Given the description of an element on the screen output the (x, y) to click on. 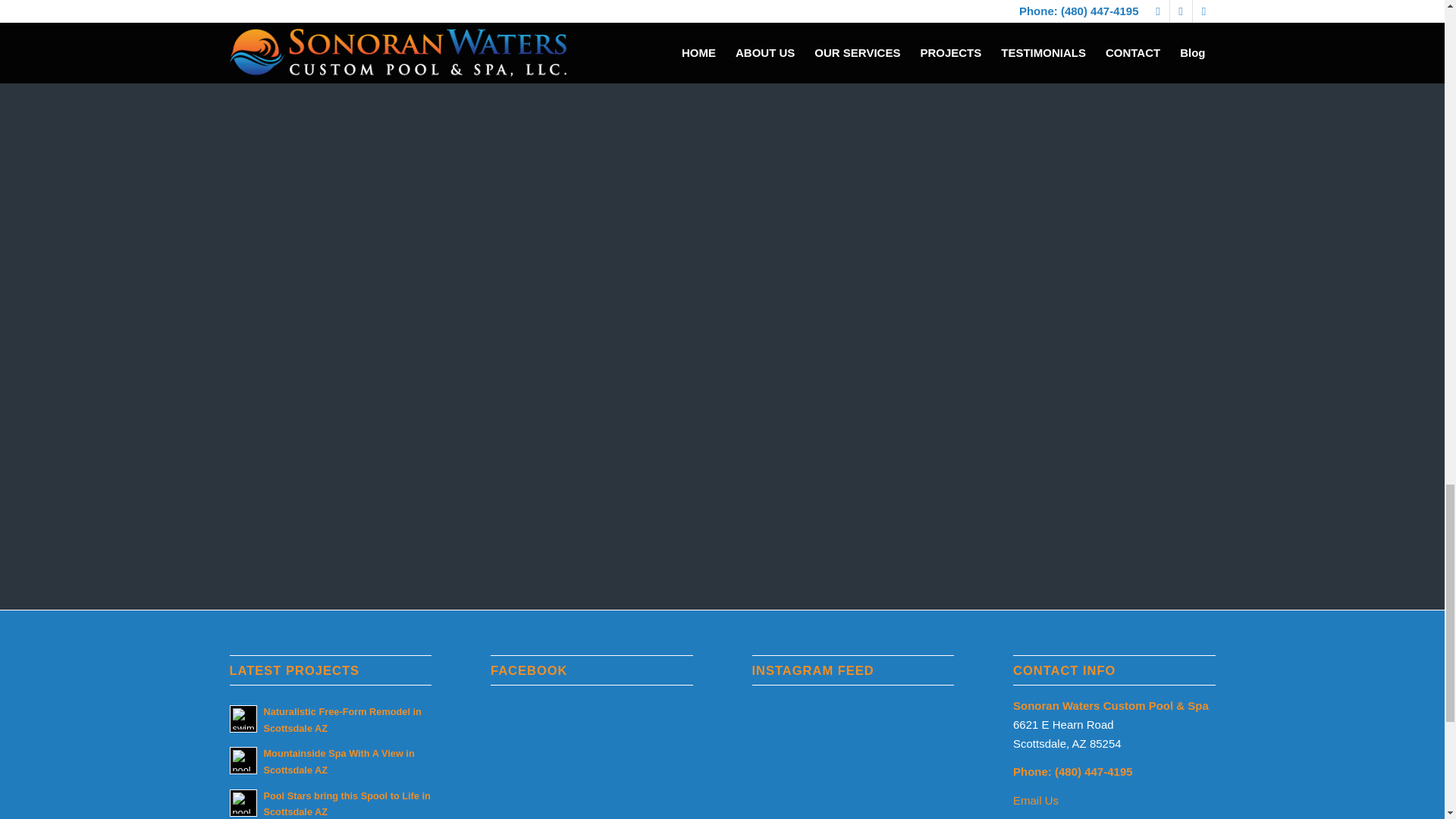
Mountainside Spa With A View in Scottsdale AZ (338, 761)
Naturalistic Free-Form Remodel in Scottsdale AZ (342, 719)
Pool Stars bring this Spool to Life in Scottsdale AZ (346, 804)
Submit (701, 529)
Email Us (1035, 799)
